Given the description of an element on the screen output the (x, y) to click on. 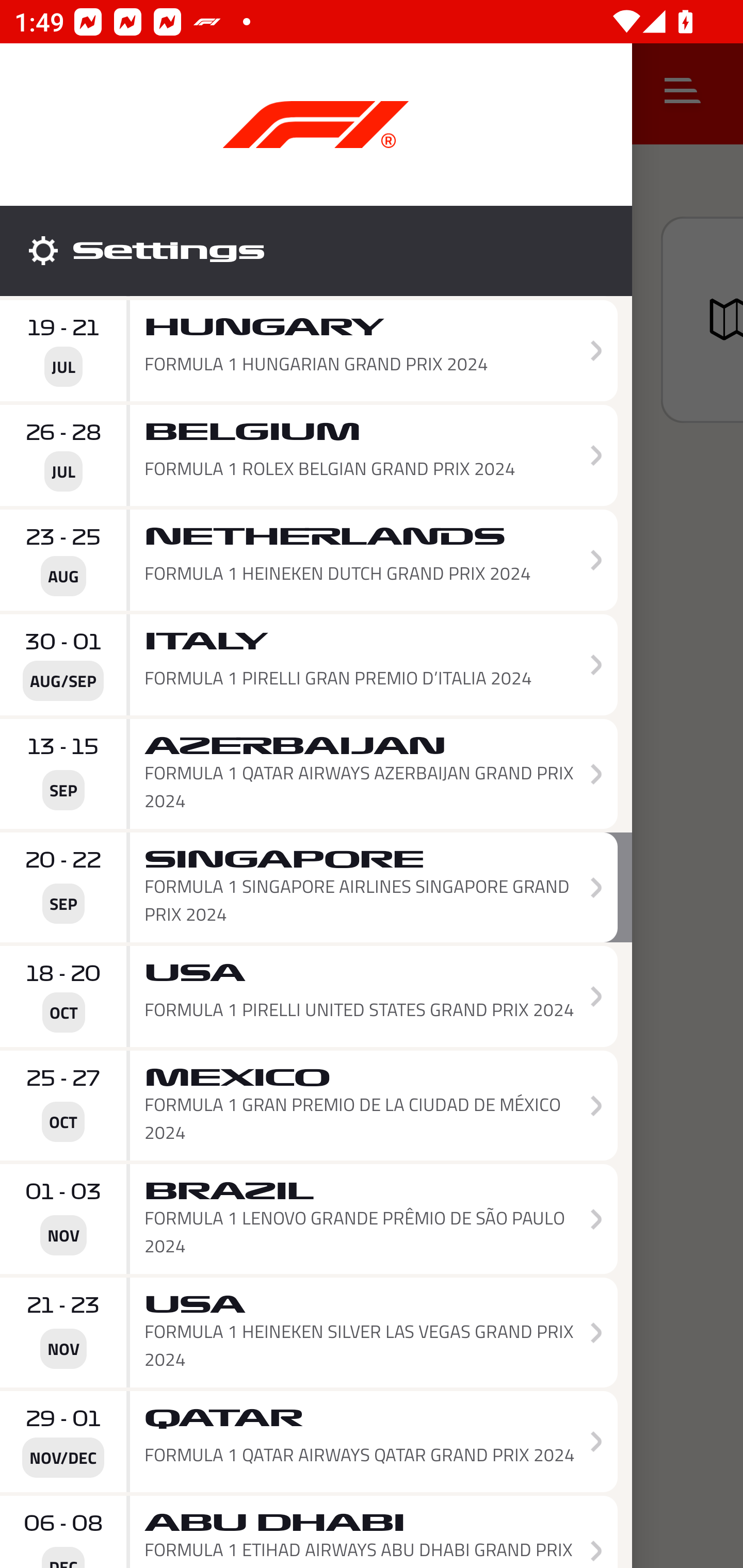
Settings (316, 250)
